Given the description of an element on the screen output the (x, y) to click on. 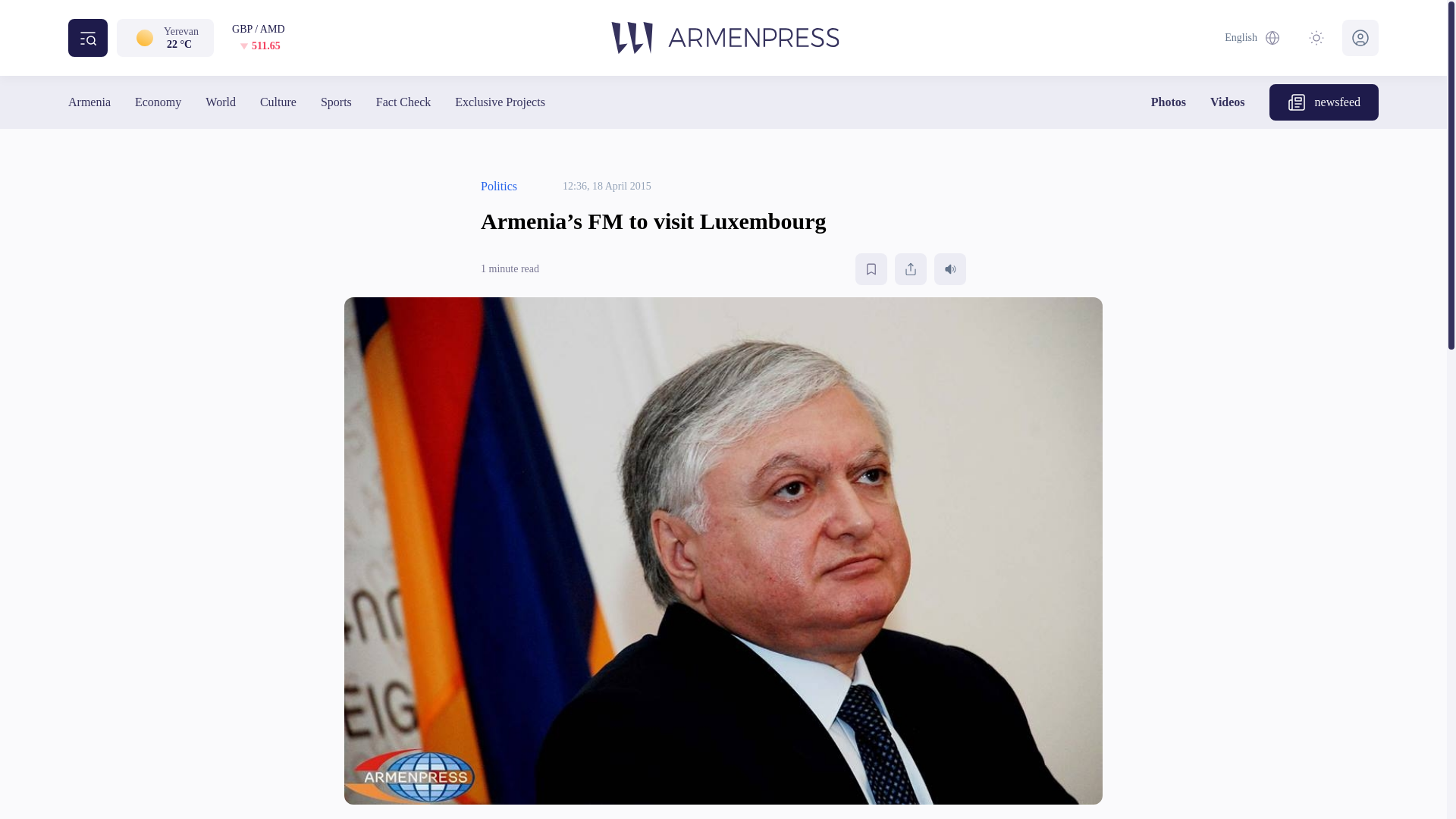
newsfeed (1323, 102)
Fact Check (402, 102)
World (220, 102)
English (1252, 37)
Culture (278, 102)
Armenia (89, 102)
Sports (336, 102)
Politics (498, 186)
Videos (1226, 102)
Exclusive Projects (499, 102)
